Given the description of an element on the screen output the (x, y) to click on. 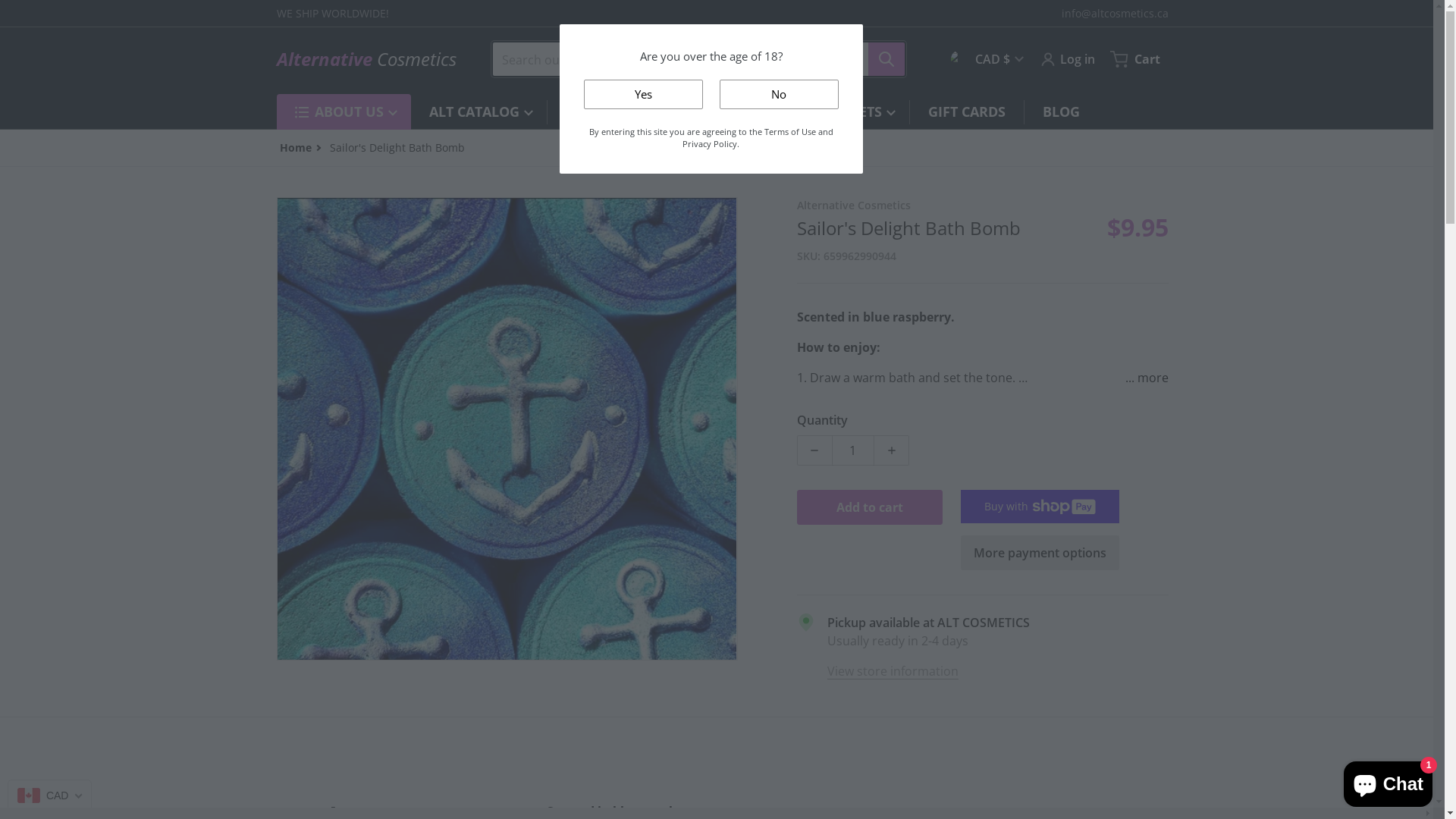
ALT CATALOG Element type: text (478, 111)
ABOUT US Element type: text (352, 111)
Add to cart Element type: text (869, 506)
VENDOR COLLECTIVE CATALOG Element type: text (673, 111)
More payment options Element type: text (1039, 552)
info@altcosmetics.ca Element type: text (1114, 13)
Open media 1 in gallery view Element type: text (507, 427)
Alternative Cosmetics Element type: text (365, 58)
Increase quantity for Sailor&#39;s Delight Bath Bomb Element type: text (891, 450)
GIFT SETS Element type: text (853, 111)
Log in Element type: text (1066, 59)
Cart Element type: text (1136, 59)
Shopify online store chat Element type: hover (1388, 780)
... more Element type: text (1140, 377)
Home Element type: text (294, 147)
View store information Element type: text (892, 670)
BLOG Element type: text (1060, 111)
Decrease quantity for Sailor&#39;s Delight Bath Bomb Element type: text (814, 450)
GIFT CARDS Element type: text (966, 111)
